Given the description of an element on the screen output the (x, y) to click on. 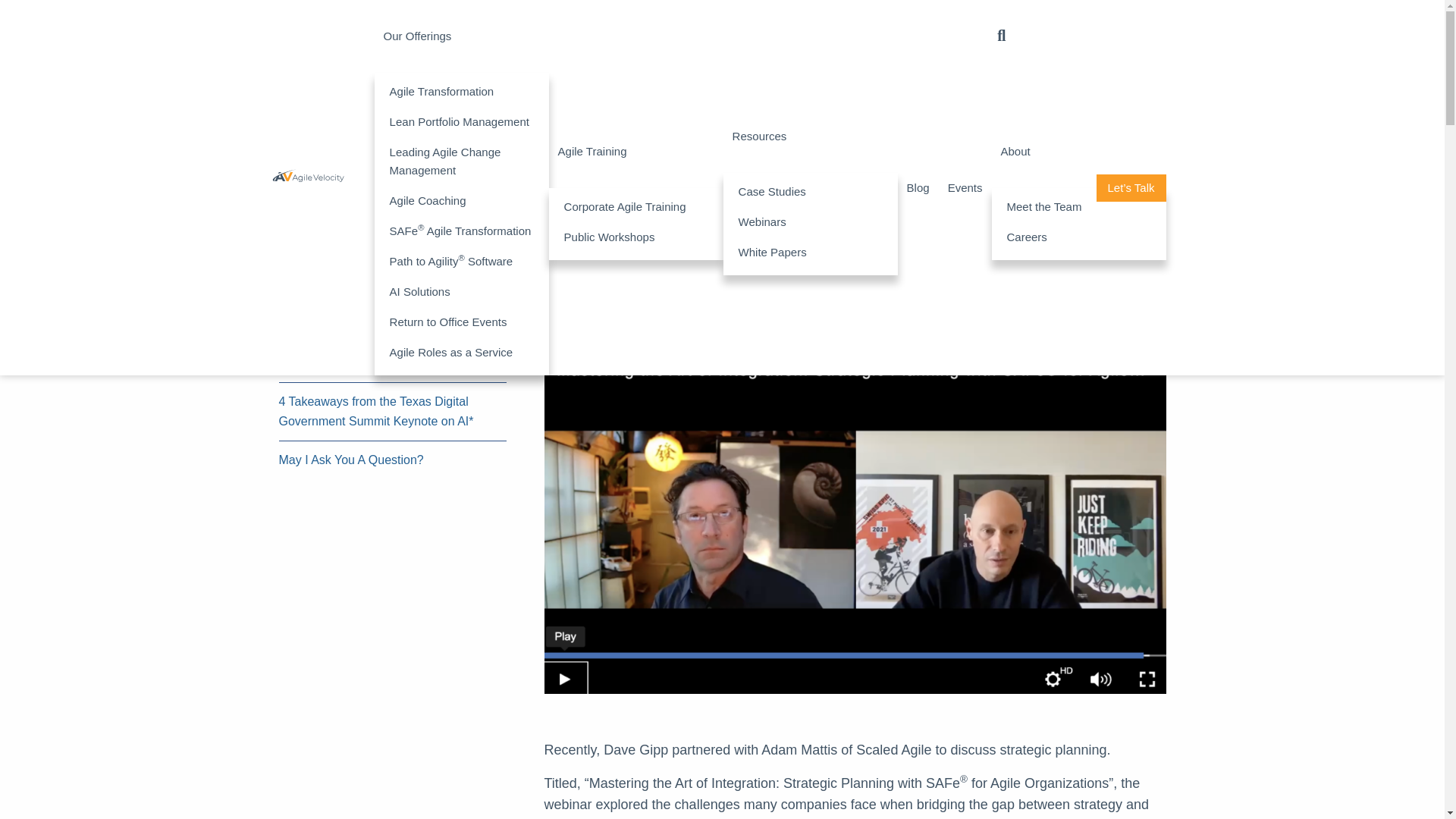
Agile Training (635, 151)
AI Solutions (461, 291)
Agile Transformation (461, 91)
Meet the Team (1077, 206)
Webinars (809, 222)
Twitter (15, 129)
Linkedin (15, 190)
Lean Portfolio Management (461, 122)
More (15, 250)
Return to Office Events (461, 322)
